Given the description of an element on the screen output the (x, y) to click on. 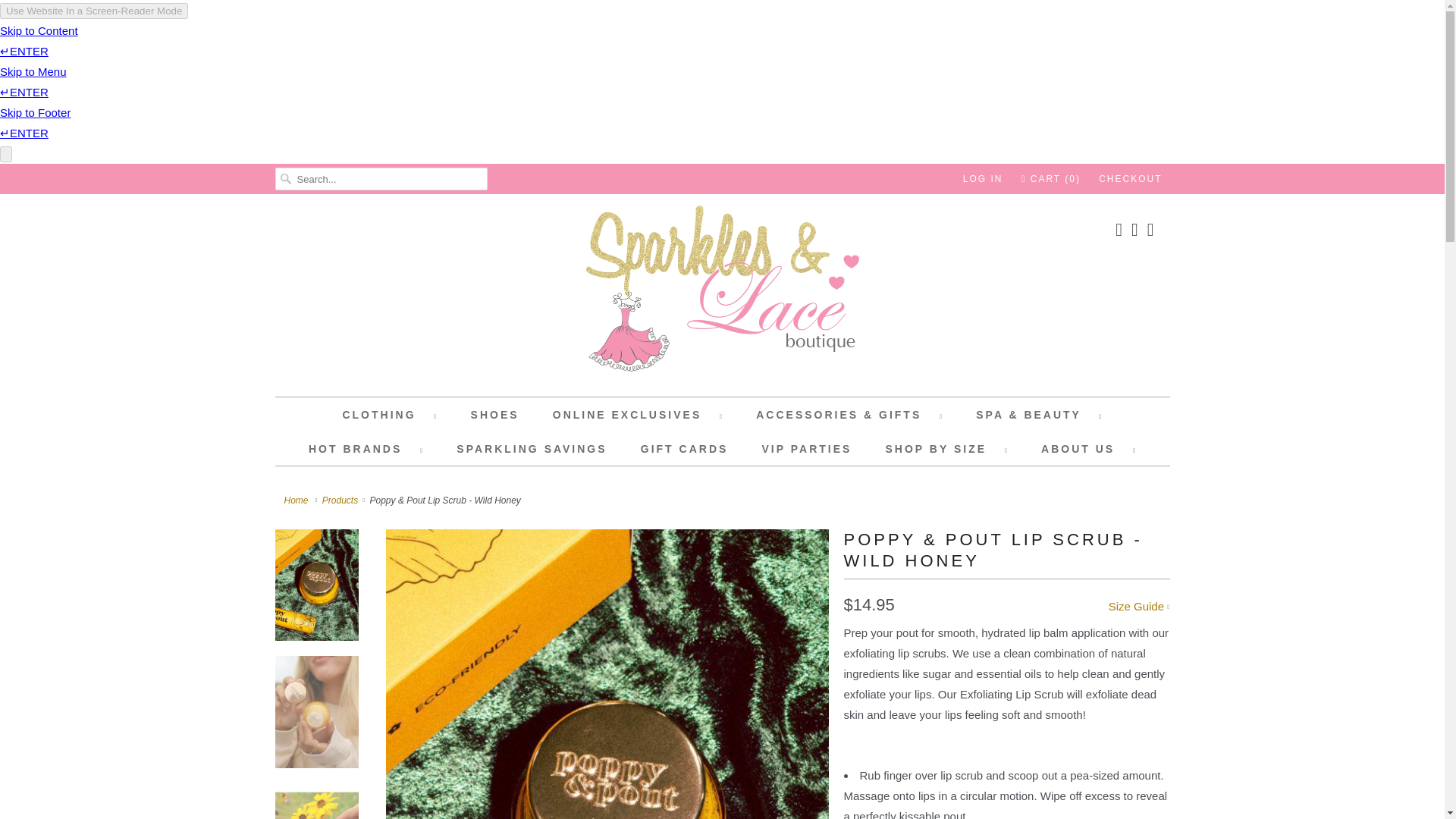
CHECKOUT (1130, 178)
Products (339, 499)
LOG IN (982, 178)
